Given the description of an element on the screen output the (x, y) to click on. 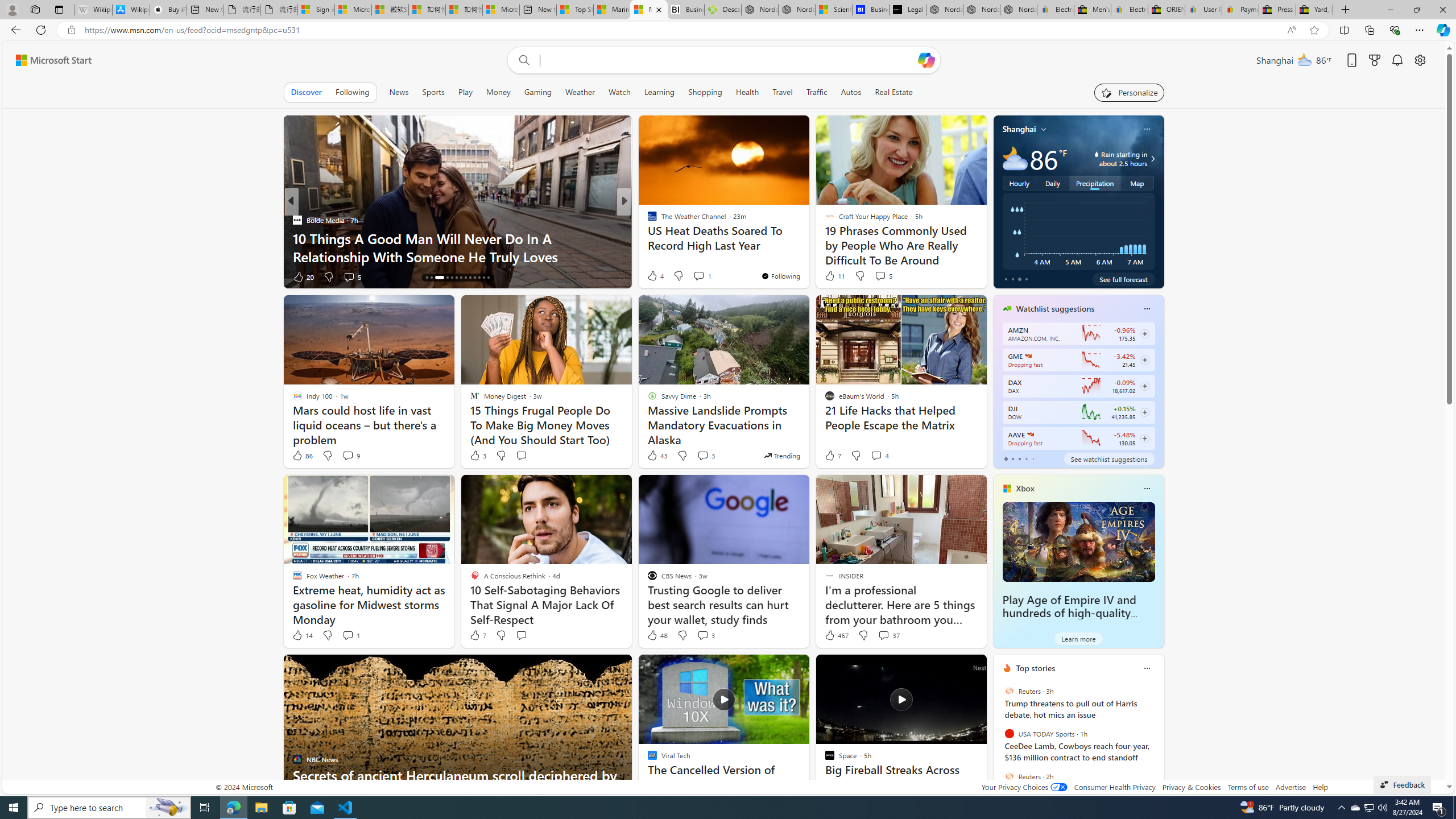
View comments 35 Comment (707, 276)
See full forecast (1123, 278)
tab-2 (1019, 458)
View comments 5 Comment (879, 275)
The Register (647, 238)
Marine life - MSN (611, 9)
View comments 3 Comment (705, 634)
View comments 4 Comment (876, 455)
